Given the description of an element on the screen output the (x, y) to click on. 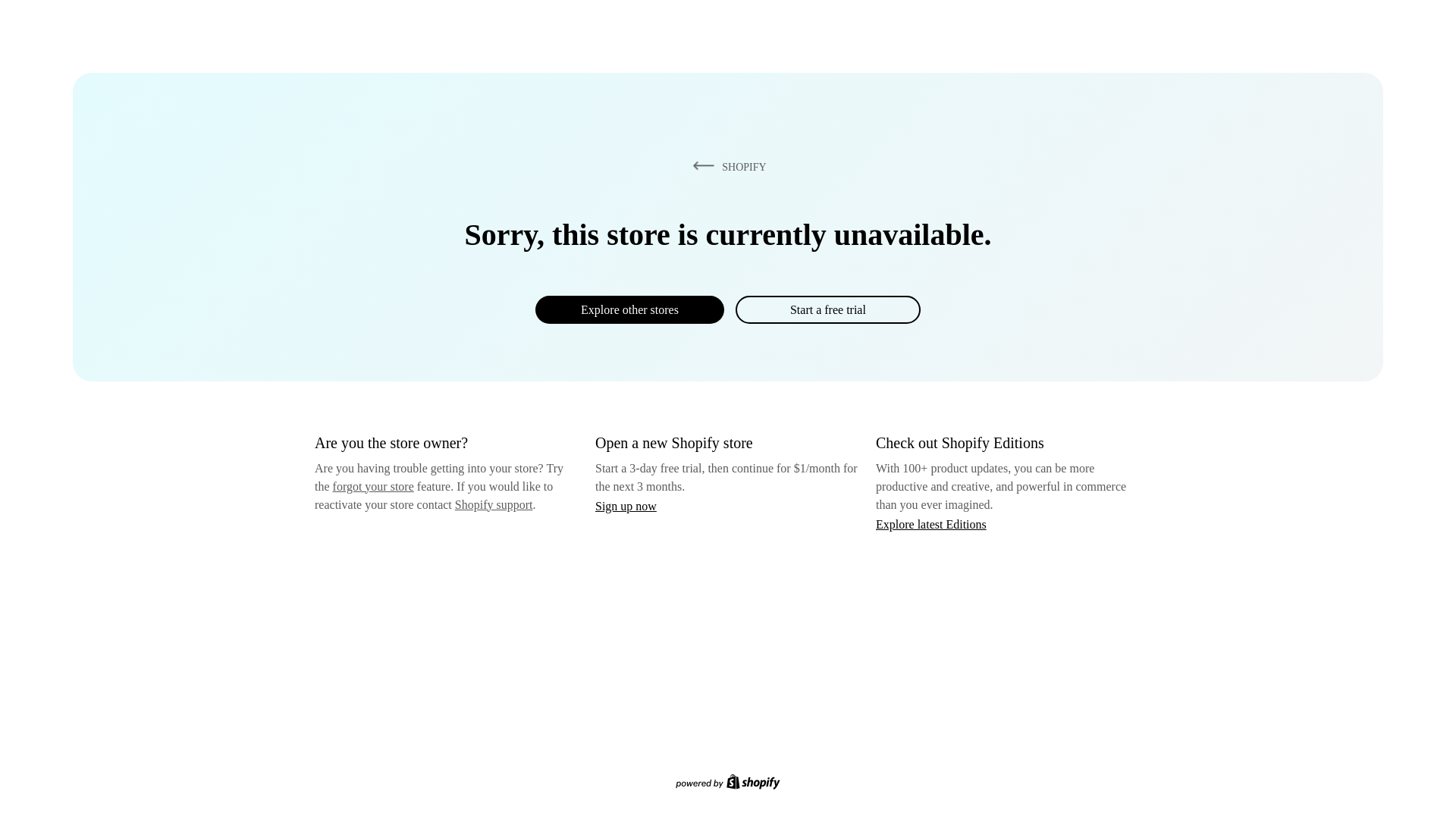
Explore other stores (629, 309)
Sign up now (625, 505)
SHOPIFY (726, 166)
Start a free trial (827, 309)
Explore latest Editions (931, 523)
forgot your store (373, 486)
Shopify support (493, 504)
